Given the description of an element on the screen output the (x, y) to click on. 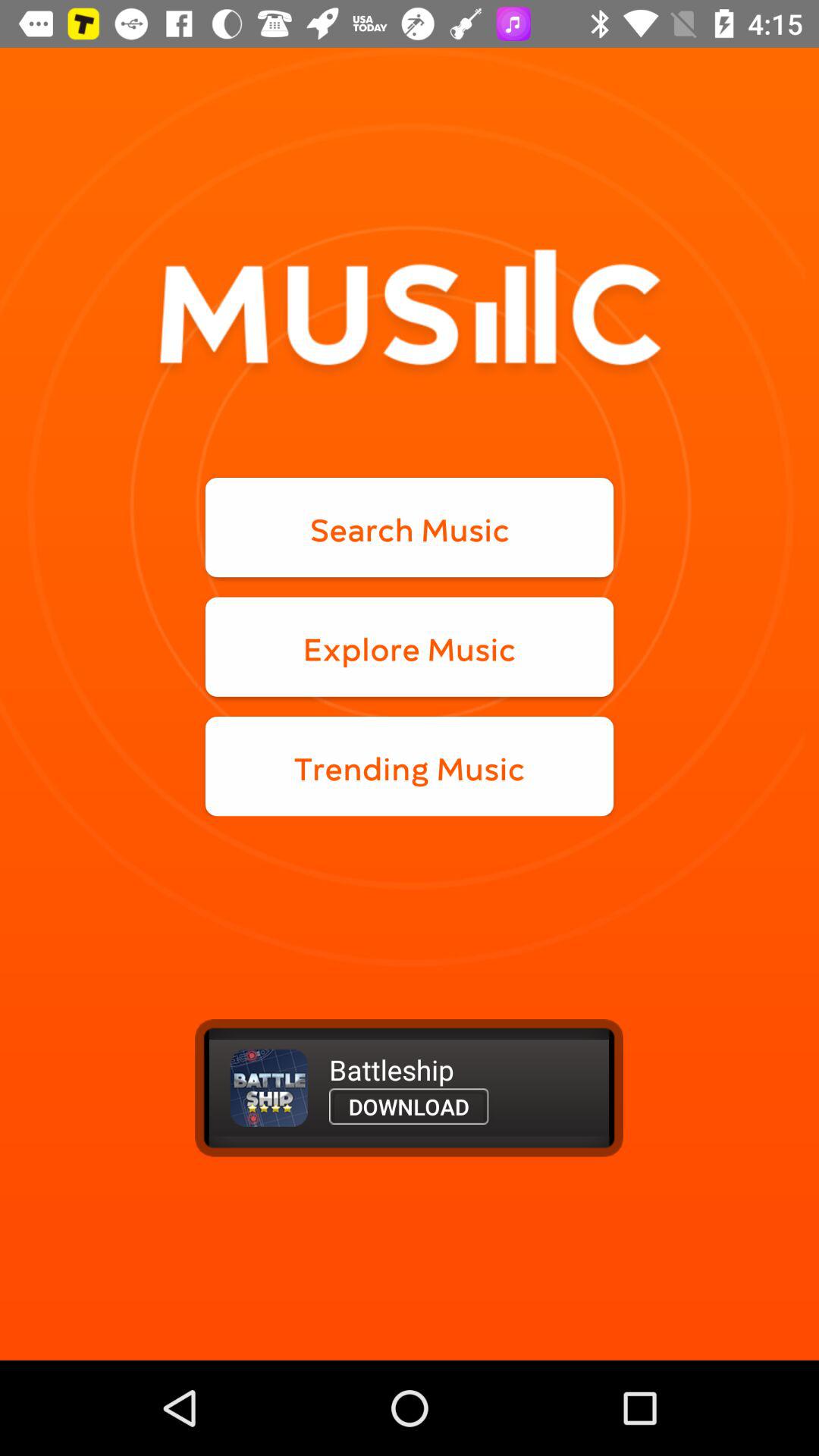
tap the icon above the explore music item (409, 527)
